Given the description of an element on the screen output the (x, y) to click on. 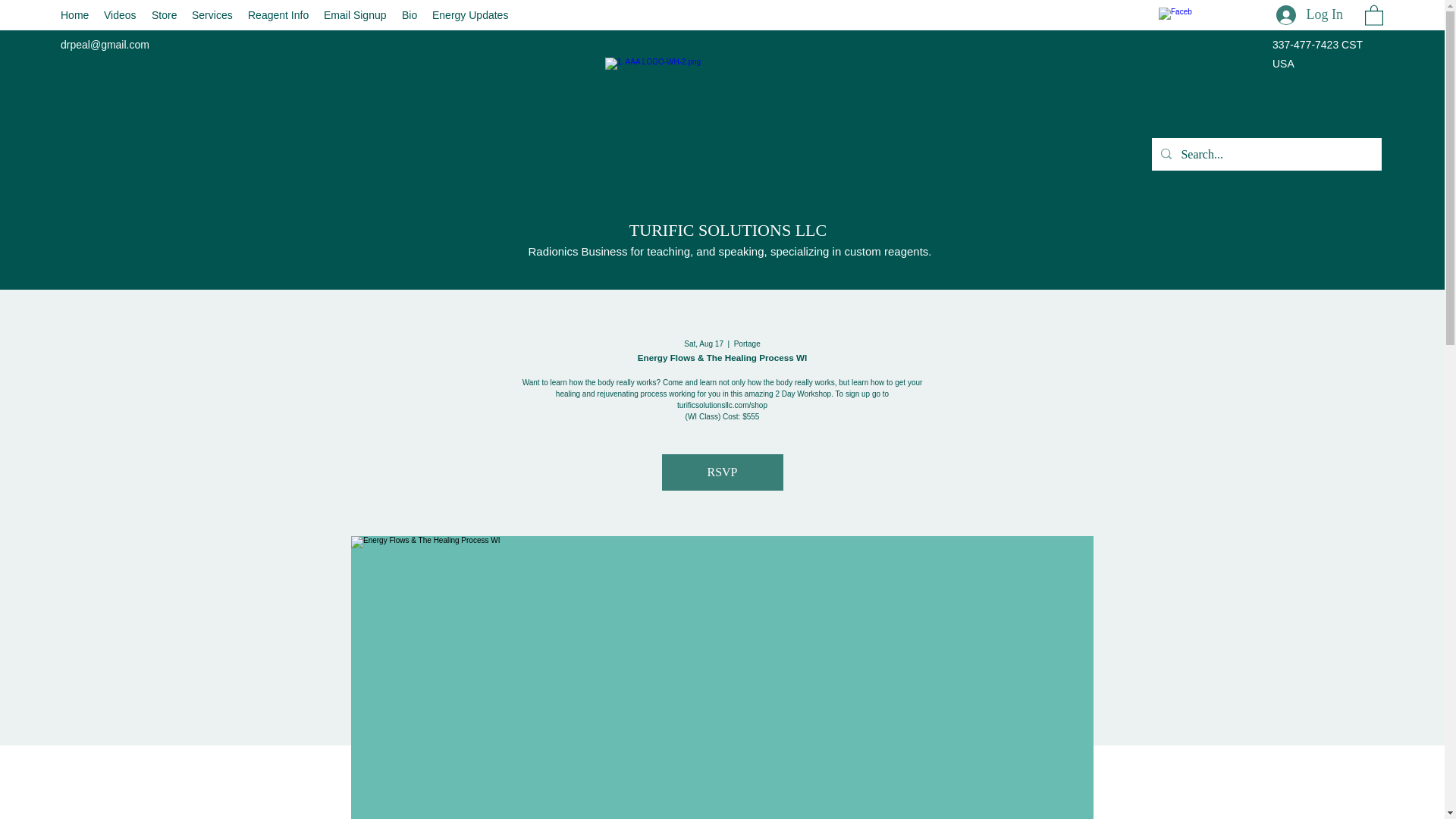
Reagent Info (277, 15)
Email Signup (354, 15)
Log In (1309, 15)
TURIFIC SOLUTIONS LLC (727, 229)
Store (164, 15)
Home (74, 15)
Bio (409, 15)
Videos (120, 15)
RSVP (722, 472)
Services (212, 15)
Energy Updates (470, 15)
